Given the description of an element on the screen output the (x, y) to click on. 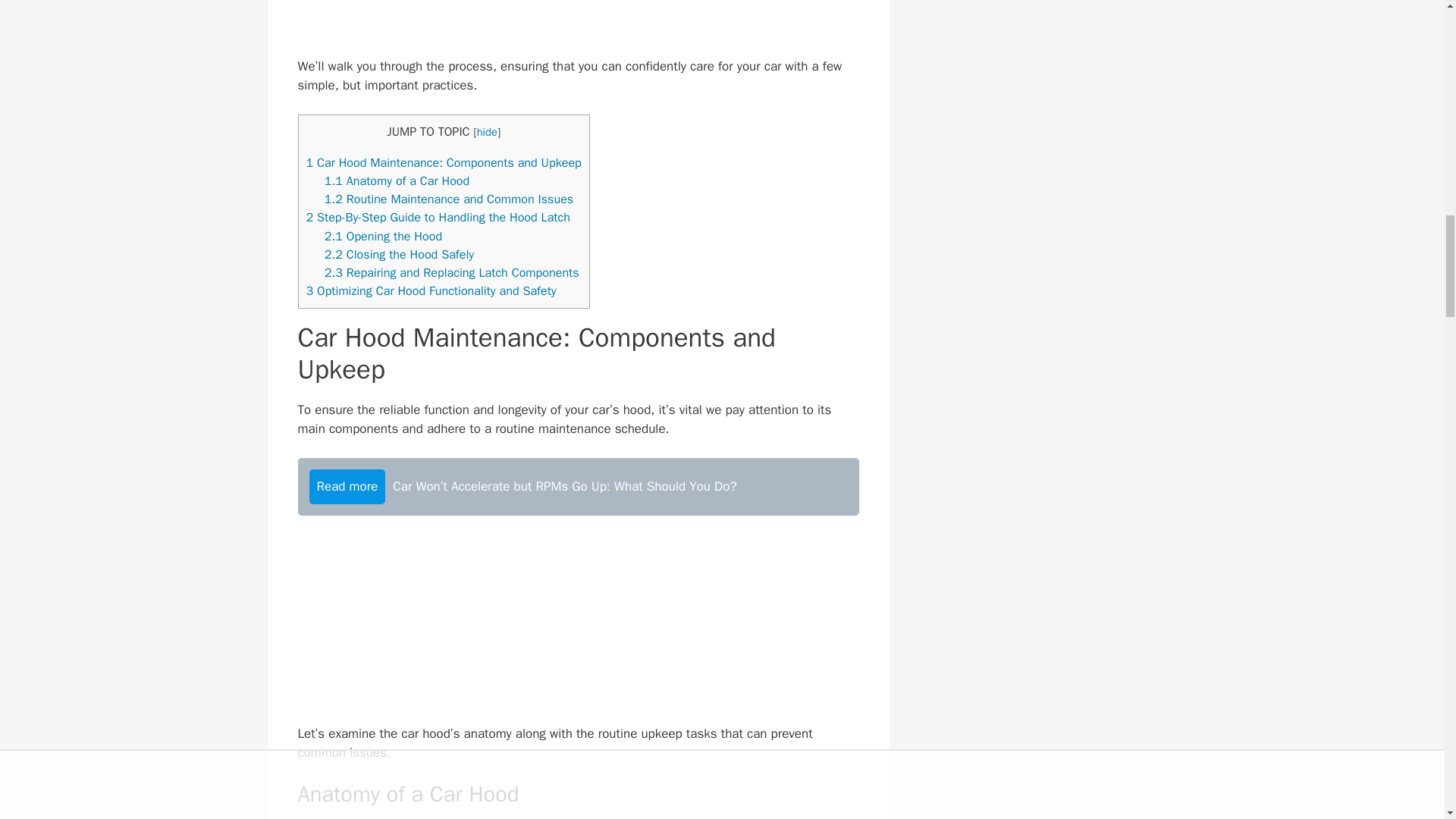
hide (487, 131)
2.1 Opening the Hood (383, 236)
1.1 Anatomy of a Car Hood (397, 180)
2.3 Repairing and Replacing Latch Components (451, 272)
3 Optimizing Car Hood Functionality and Safety (430, 290)
2 Step-By-Step Guide to Handling the Hood Latch (437, 217)
1 Car Hood Maintenance: Components and Upkeep (442, 162)
2.2 Closing the Hood Safely (399, 254)
1.2 Routine Maintenance and Common Issues (448, 198)
